Given the description of an element on the screen output the (x, y) to click on. 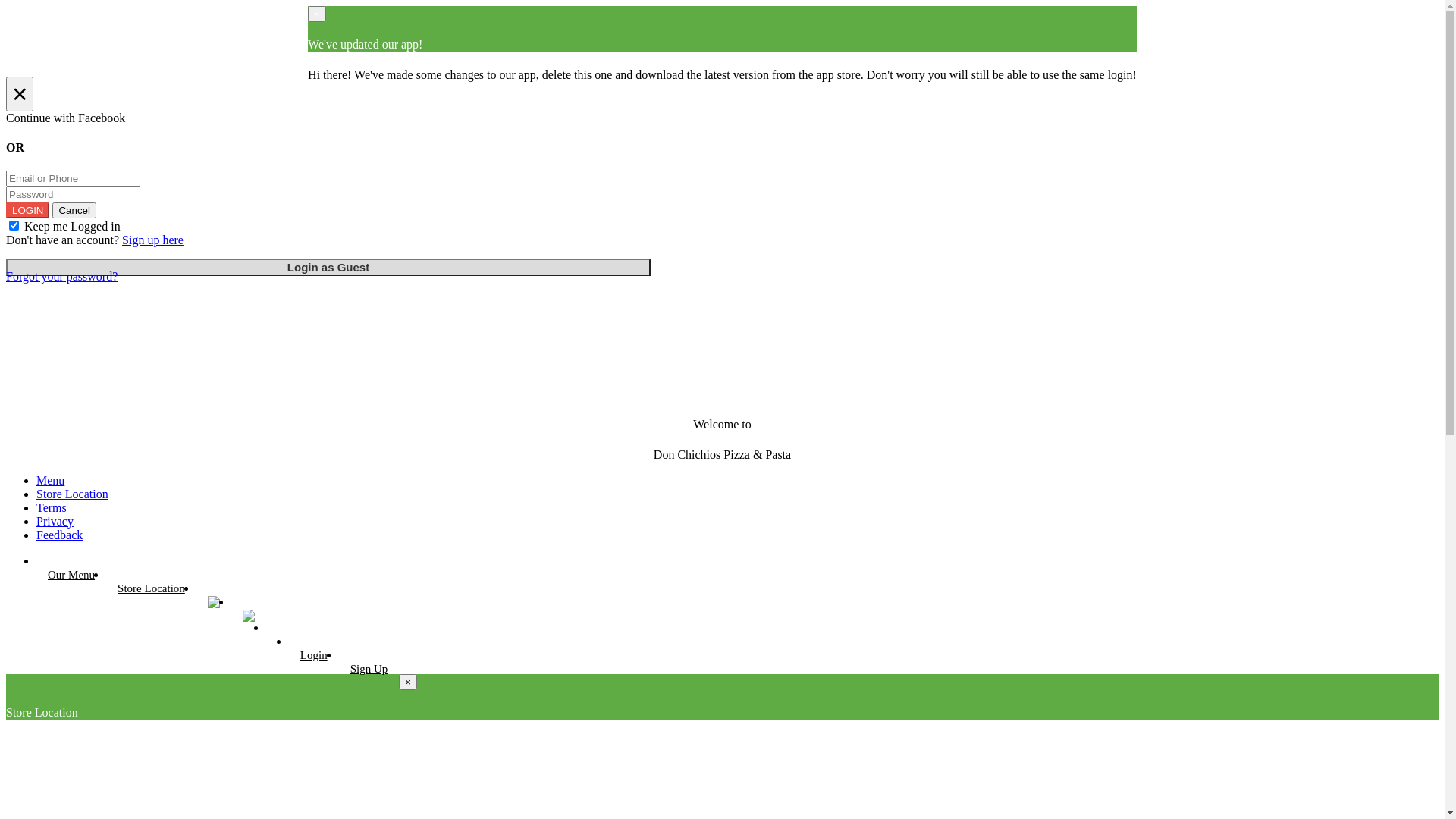
Login Element type: text (313, 655)
Store Location Element type: text (151, 588)
Sign up here Element type: text (152, 239)
Sign Up Element type: text (368, 669)
LOGIN Element type: text (27, 210)
Login as Guest Element type: text (328, 267)
Login as Guest Element type: text (328, 266)
Our Menu Element type: text (71, 575)
Menu Element type: text (50, 479)
Cancel Element type: text (74, 210)
Feedback Element type: text (59, 534)
Continue with Facebook Element type: text (722, 118)
Terms Element type: text (51, 507)
Forgot your password? Element type: text (61, 275)
Privacy Element type: text (54, 520)
Store Location Element type: text (72, 493)
